Given the description of an element on the screen output the (x, y) to click on. 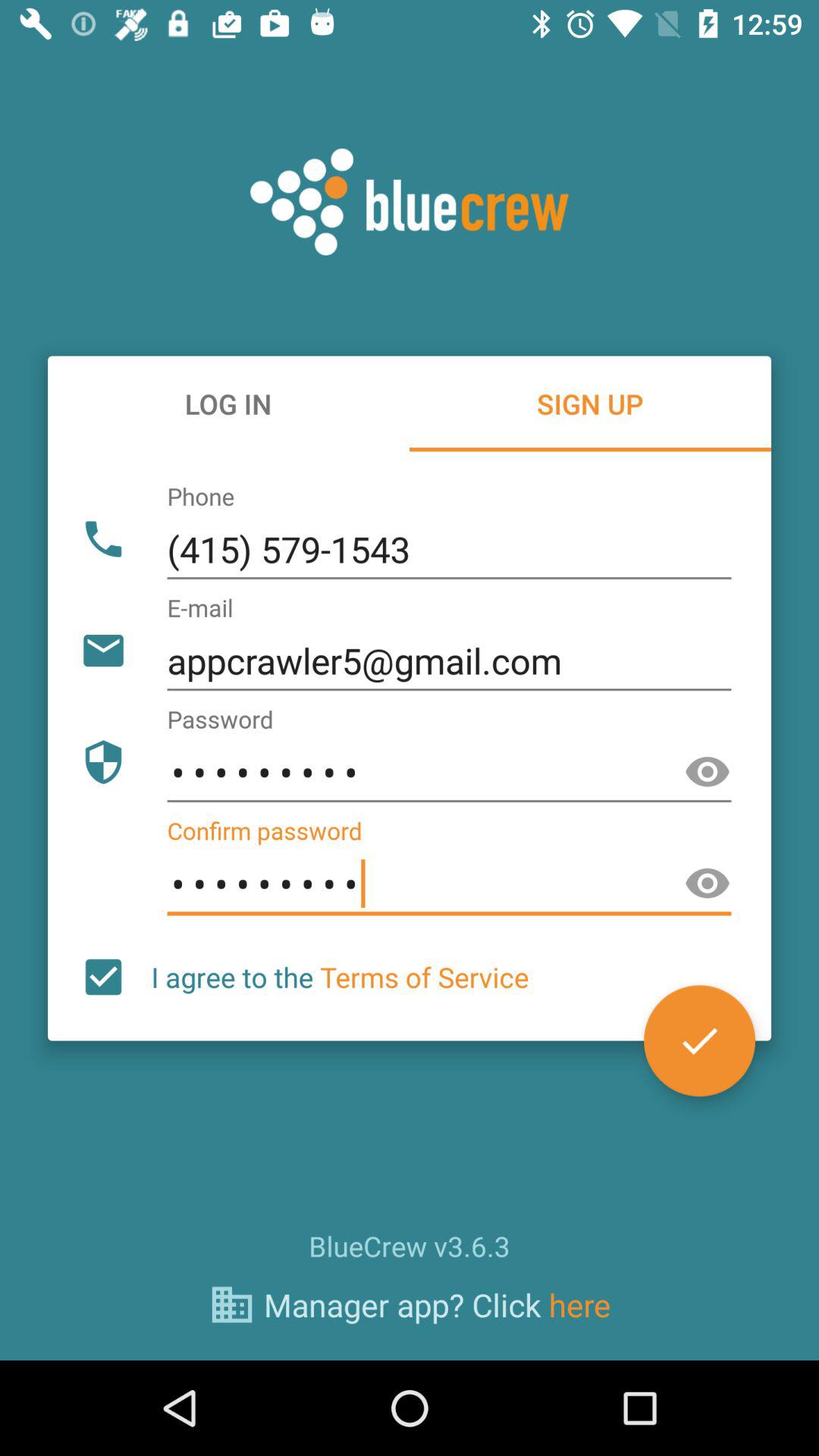
launch icon next to i agree to (699, 1040)
